Given the description of an element on the screen output the (x, y) to click on. 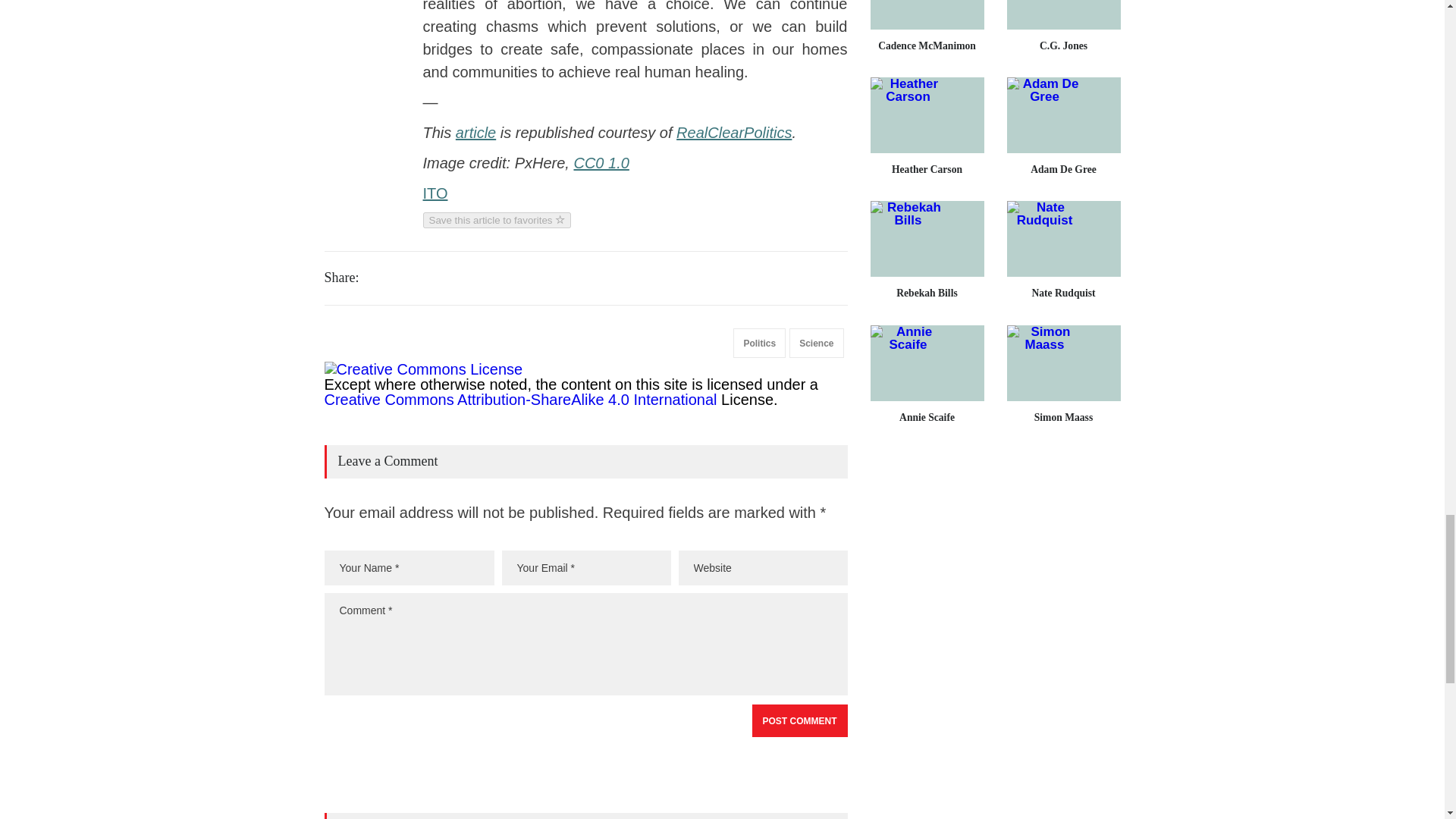
POST COMMENT (799, 720)
Website (762, 567)
